Given the description of an element on the screen output the (x, y) to click on. 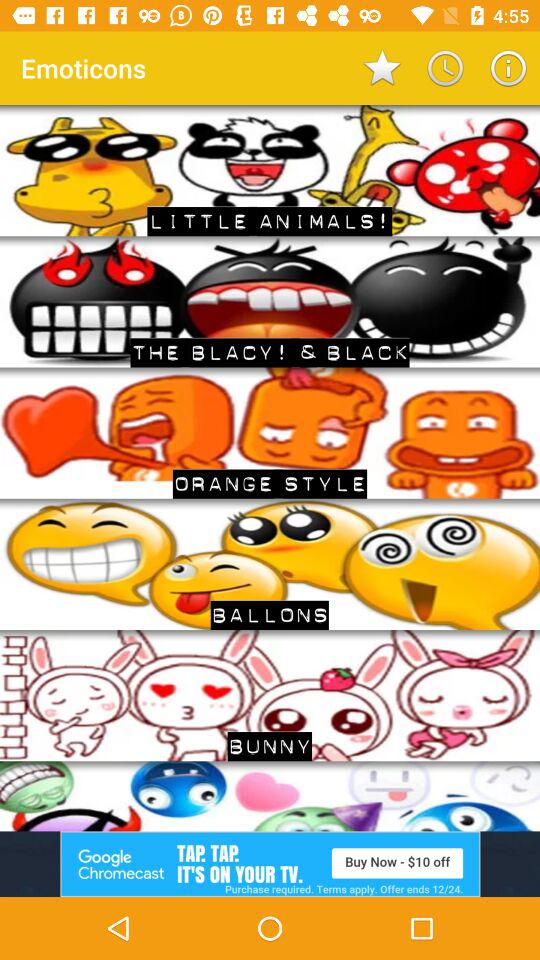
chromecast advertisement link (270, 864)
